Given the description of an element on the screen output the (x, y) to click on. 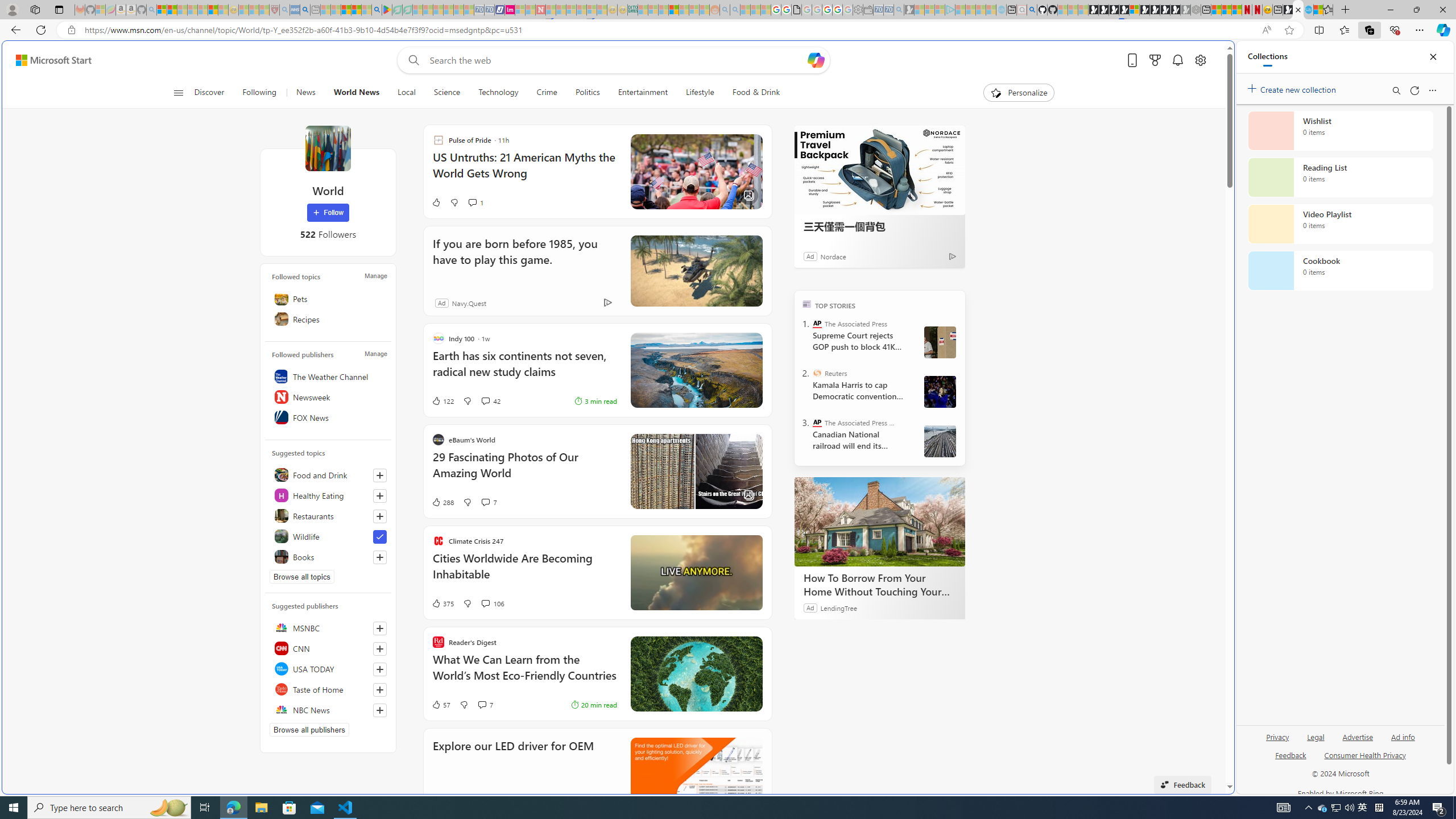
Wishlist collection, 0 items (1339, 130)
